Given the description of an element on the screen output the (x, y) to click on. 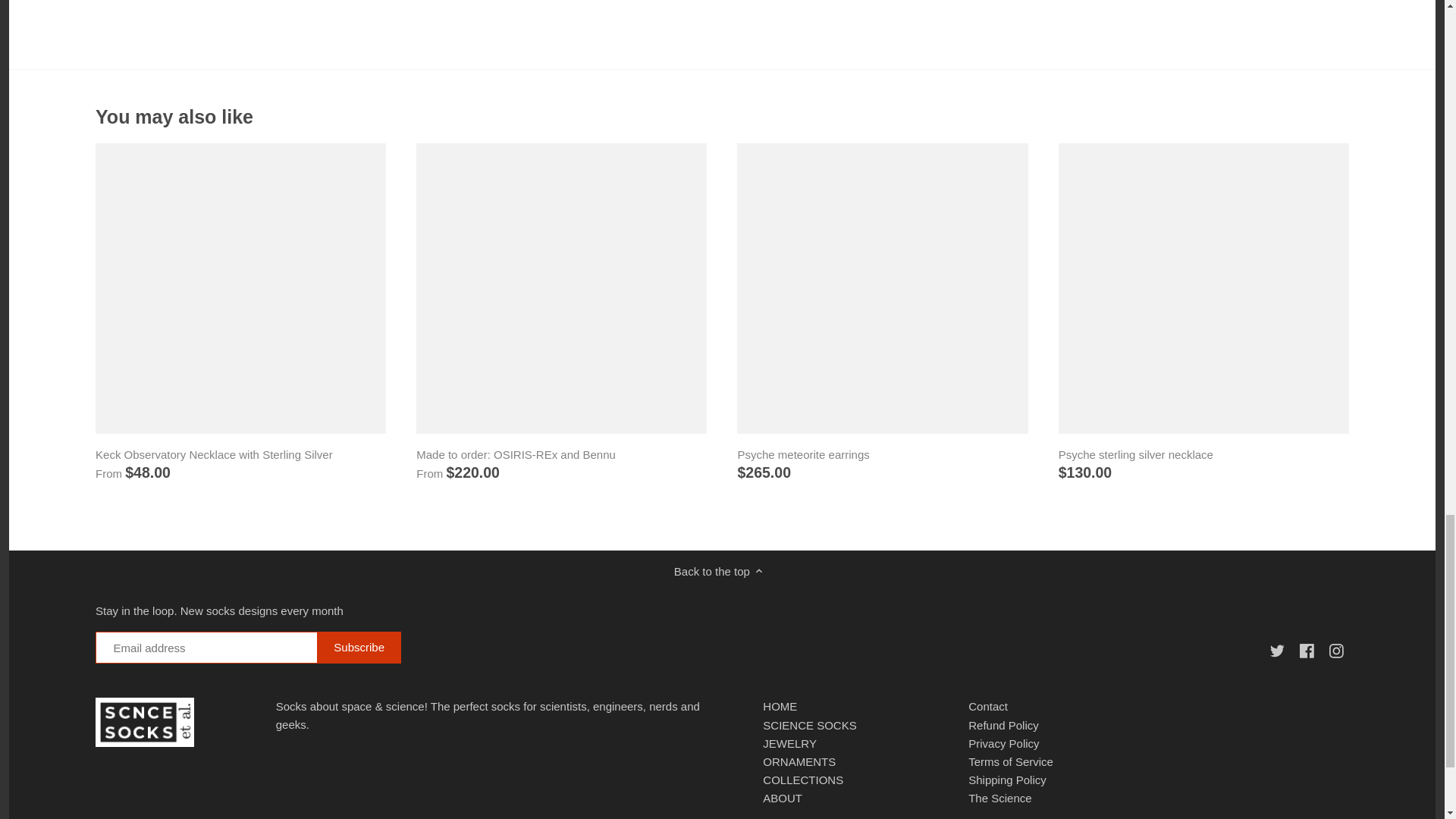
Twitter (1276, 650)
Facebook (1309, 649)
Subscribe (359, 647)
Instagram (1336, 650)
Twitter (1279, 649)
Facebook (1306, 650)
Instagram (1339, 649)
